Given the description of an element on the screen output the (x, y) to click on. 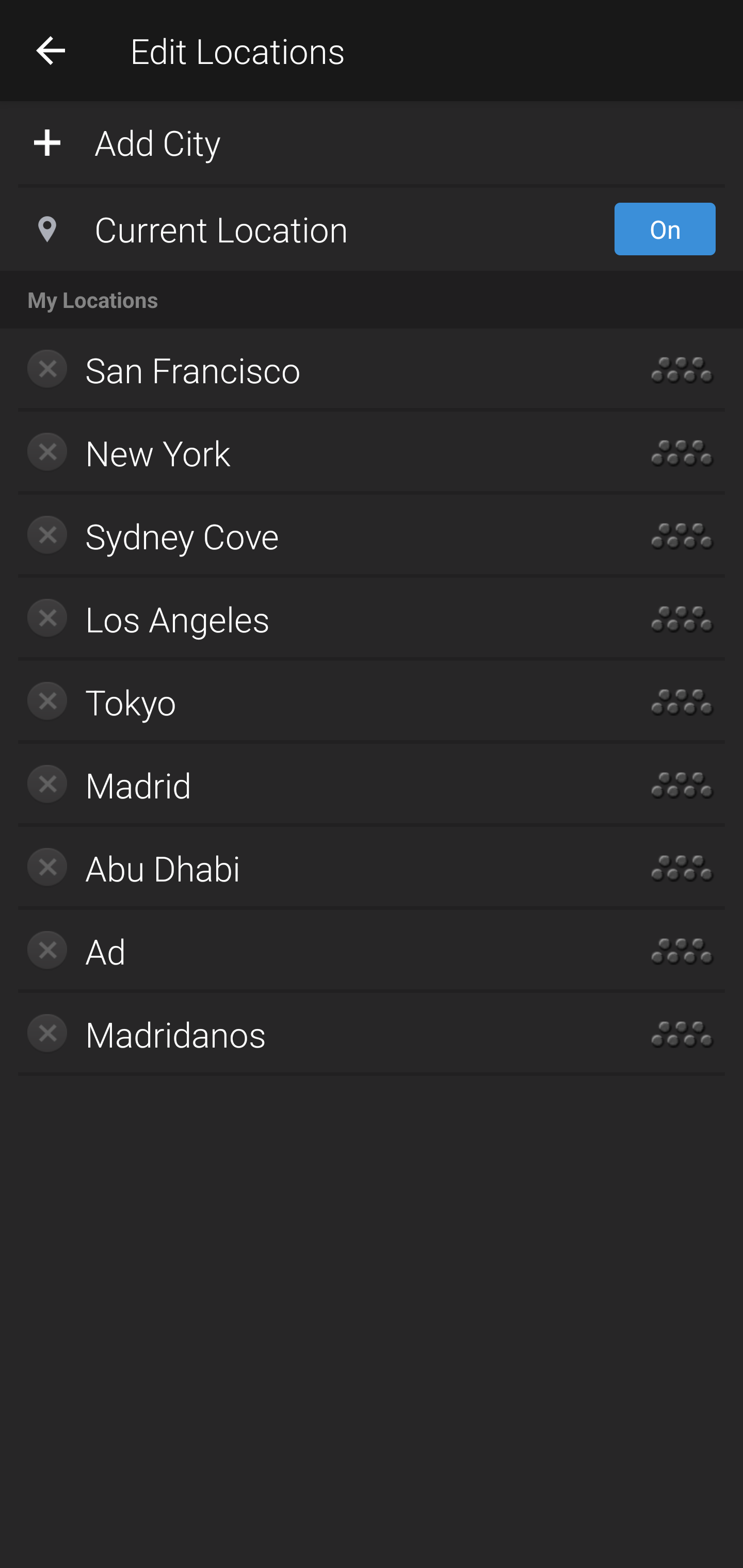
Navigate up (50, 50)
Add City (371, 141)
Current Location: On Current Location On (371, 229)
Delete: San Francisco San Francisco (311, 369)
Delete: New York New York (311, 452)
Delete: Sydney Cove Sydney Cove (311, 535)
Delete: Los Angeles Los Angeles (311, 618)
Delete: Tokyo Tokyo (311, 701)
Delete: Madrid Madrid (311, 784)
Delete: Abu Dhabi Abu Dhabi (311, 867)
Delete: Ad Ad (311, 950)
Delete: Madridanos Madridanos (311, 1033)
